Given the description of an element on the screen output the (x, y) to click on. 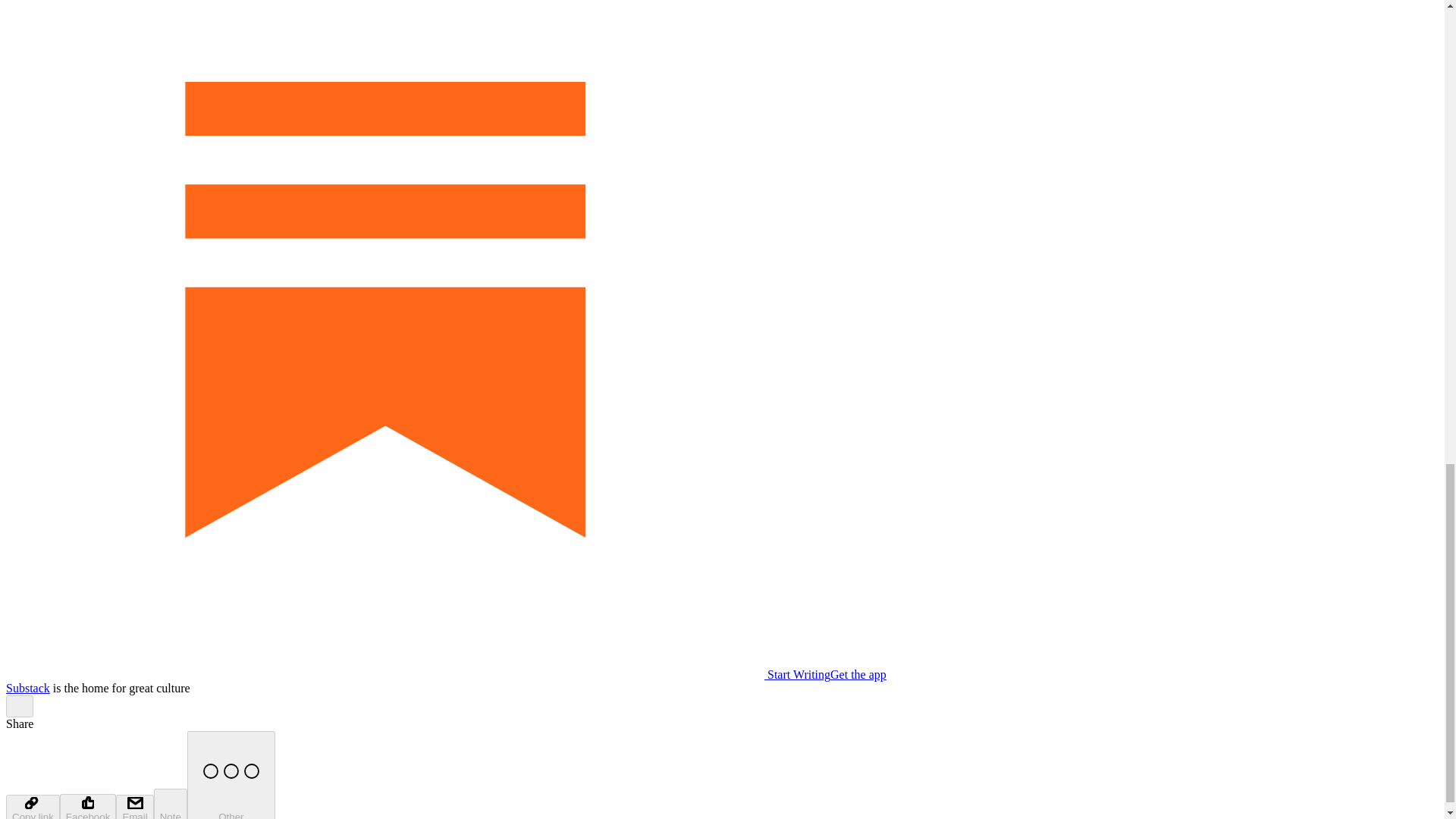
Start Writing (417, 674)
Get the app (857, 674)
Substack (27, 687)
